Given the description of an element on the screen output the (x, y) to click on. 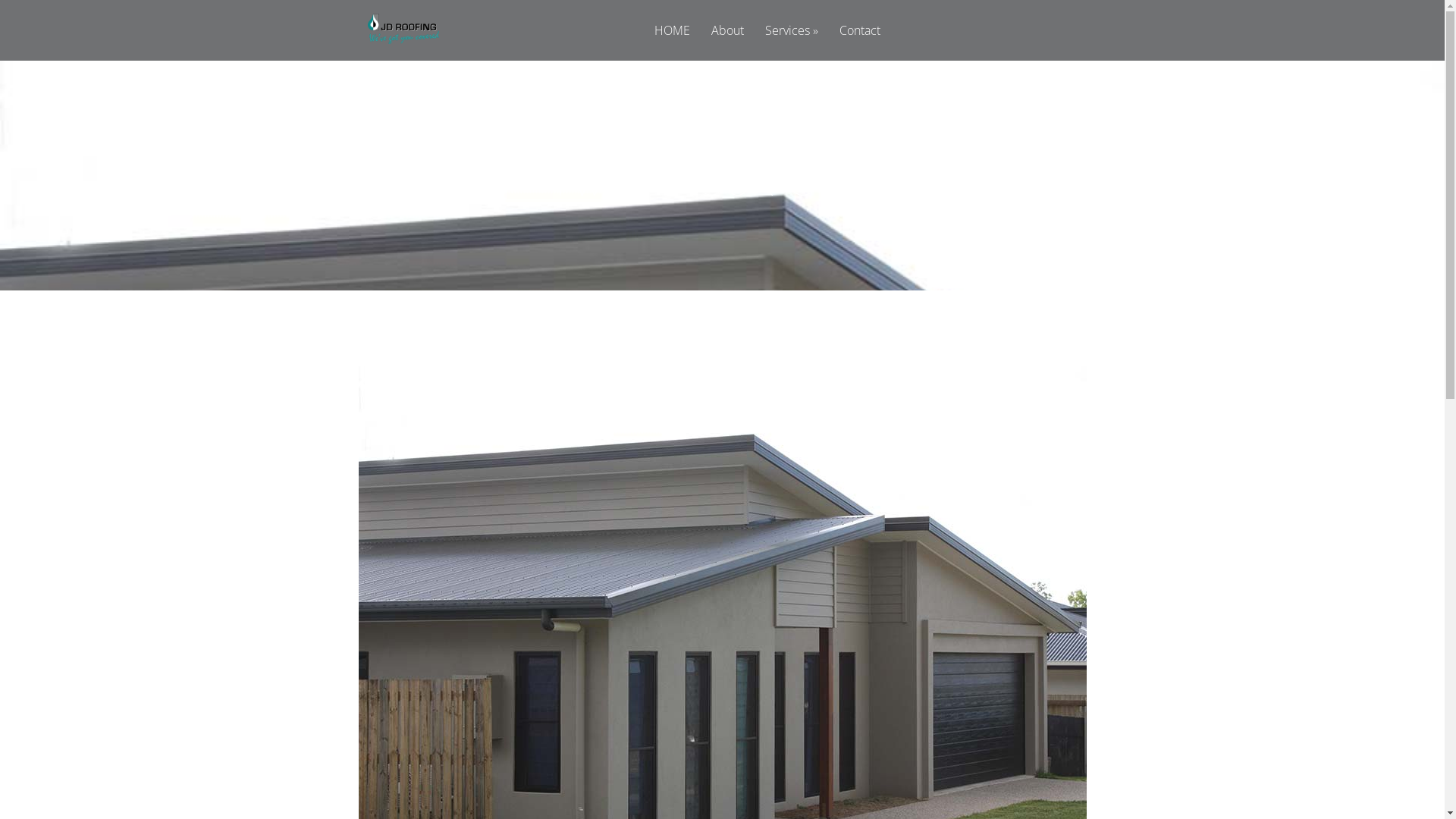
Services Element type: text (791, 42)
Contact Element type: text (859, 42)
HOME Element type: text (672, 42)
About Element type: text (727, 42)
